Given the description of an element on the screen output the (x, y) to click on. 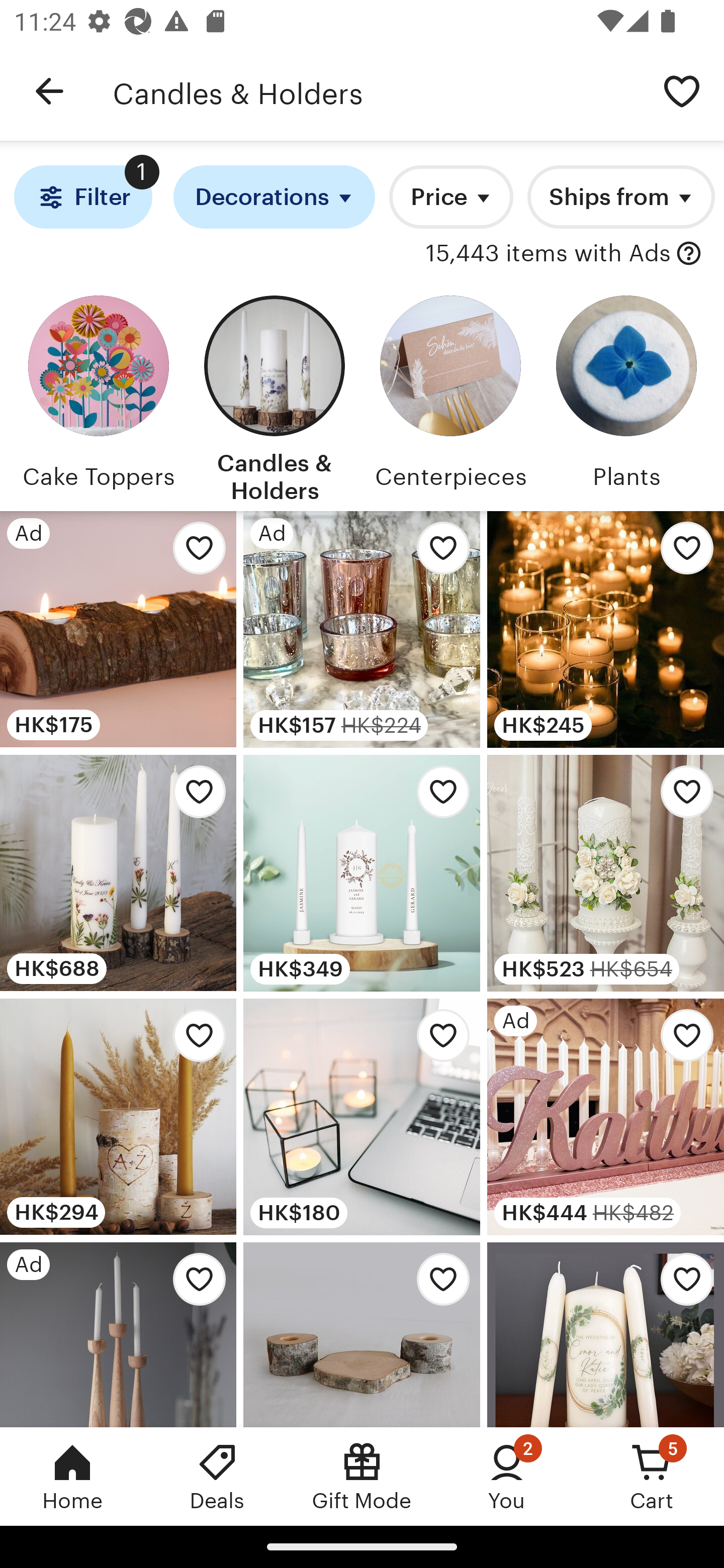
Navigate up (49, 91)
Save search (681, 90)
Candles & Holders (375, 91)
Filter (82, 197)
Decorations (274, 197)
Price (451, 197)
Ships from (621, 197)
15,443 items with Ads (548, 253)
with Ads (688, 253)
Cake Toppers (97, 395)
Candles & Holders (273, 395)
Centerpieces (449, 395)
Plants (625, 395)
Deals (216, 1475)
Gift Mode (361, 1475)
You, 2 new notifications You (506, 1475)
Cart, 5 new notifications Cart (651, 1475)
